Given the description of an element on the screen output the (x, y) to click on. 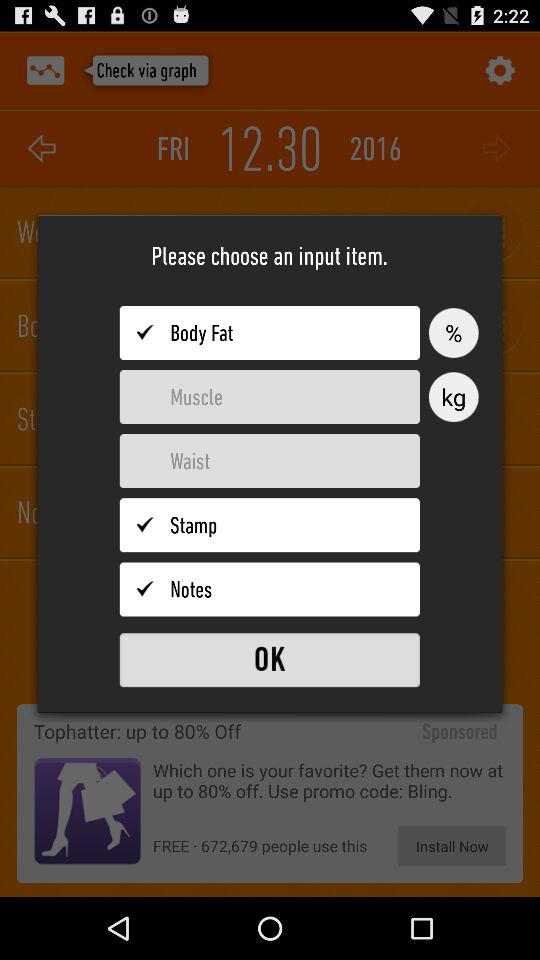
confirm choices (269, 660)
